Given the description of an element on the screen output the (x, y) to click on. 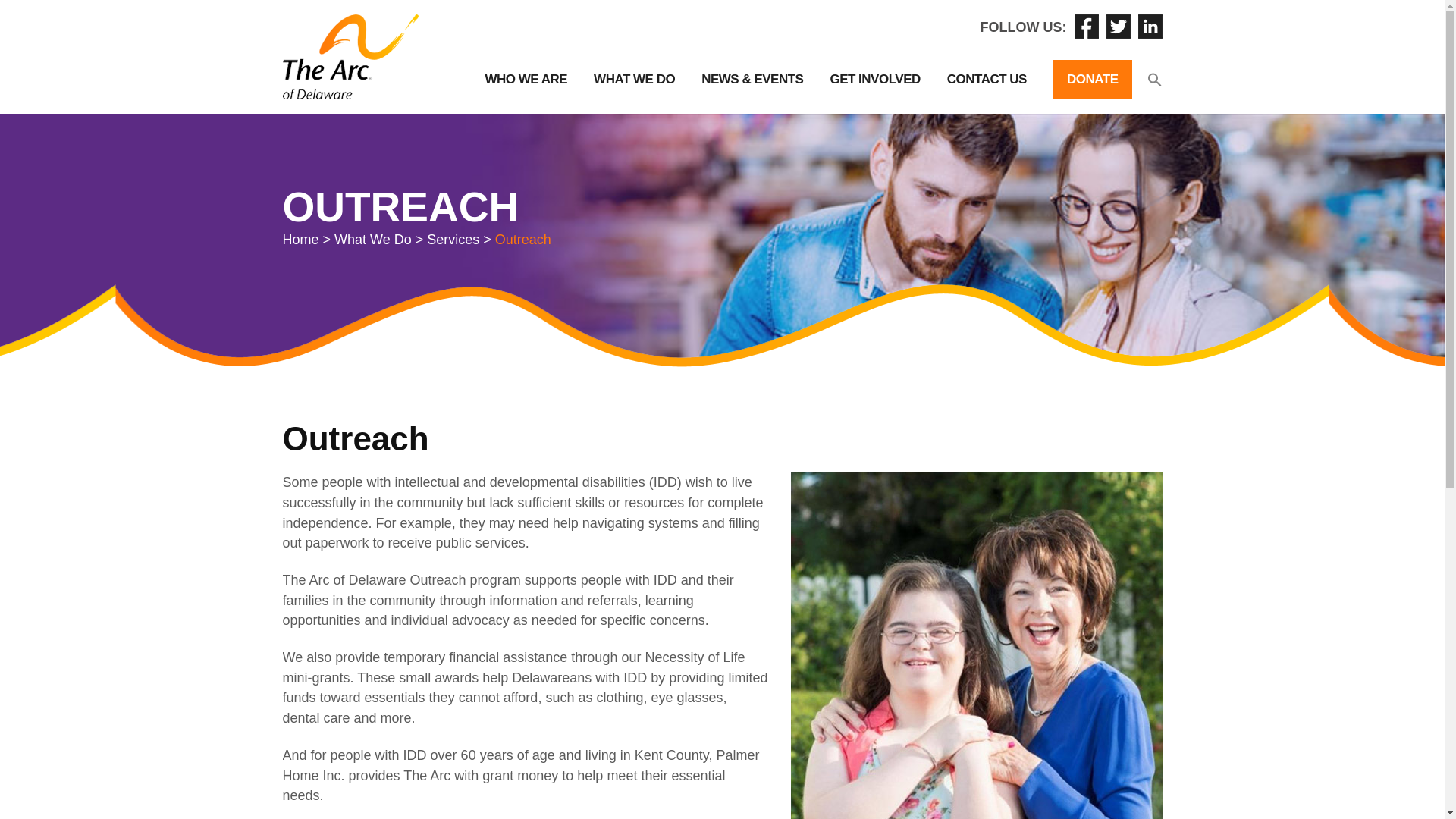
Go to What We Do. (373, 239)
What We Do (373, 239)
GET INVOLVED (874, 79)
Go to The Arc of Delaware. (300, 239)
CONTACT US (986, 79)
WHAT WE DO (634, 79)
WHO WE ARE (525, 79)
Home (300, 239)
DONATE (1092, 79)
Go to Services. (452, 239)
